Given the description of an element on the screen output the (x, y) to click on. 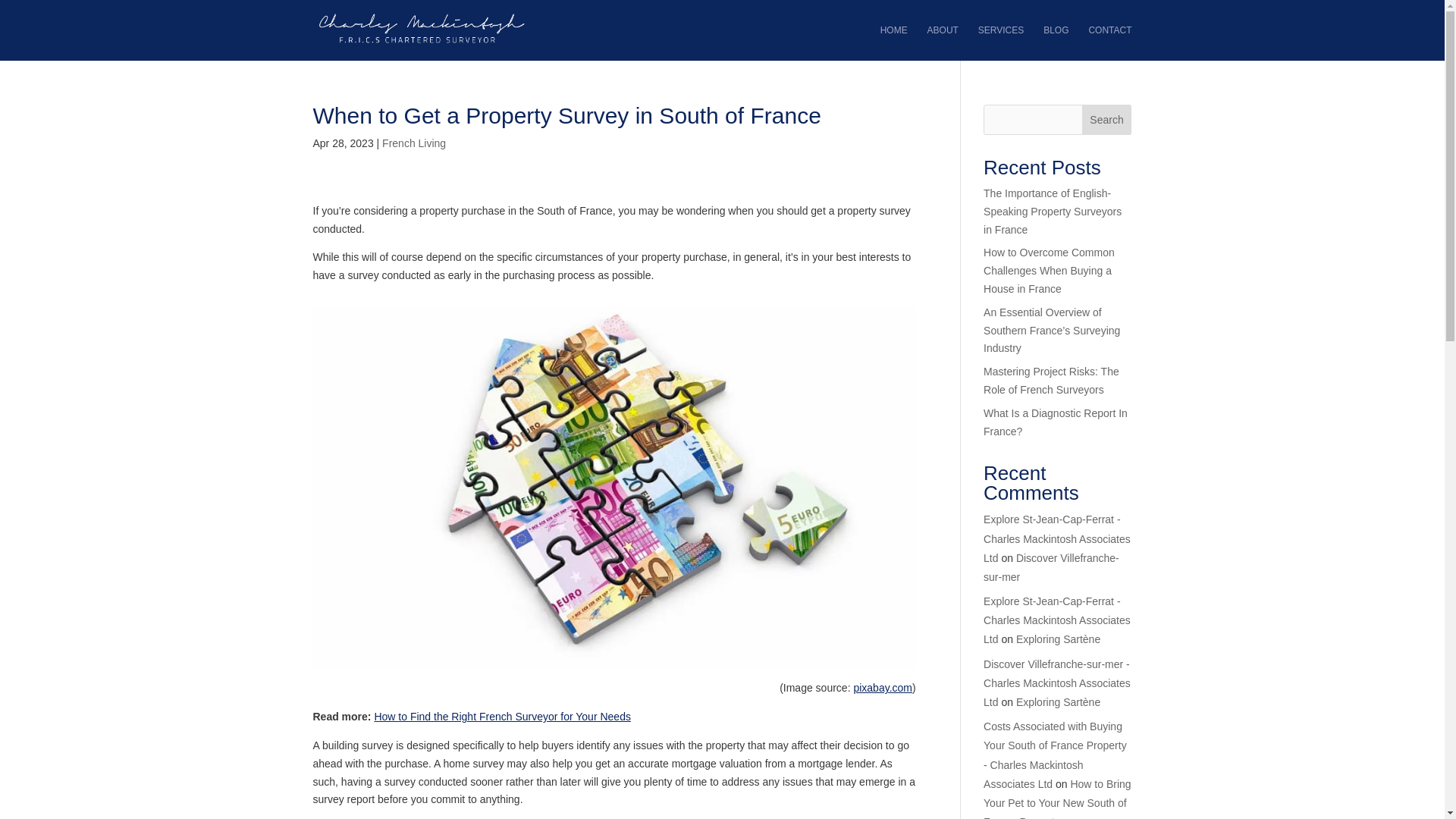
Mastering Project Risks: The Role of French Surveyors (1051, 380)
Search (1106, 119)
pixabay.com (882, 687)
CONTACT (1109, 42)
How to Bring Your Pet to Your New South of France Property (1057, 798)
SERVICES (1000, 42)
What Is a Diagnostic Report In France? (1055, 422)
How to Find the Right French Surveyor for Your Needs (502, 716)
French Living (413, 143)
Discover Villefranche-sur-mer (1051, 567)
